Given the description of an element on the screen output the (x, y) to click on. 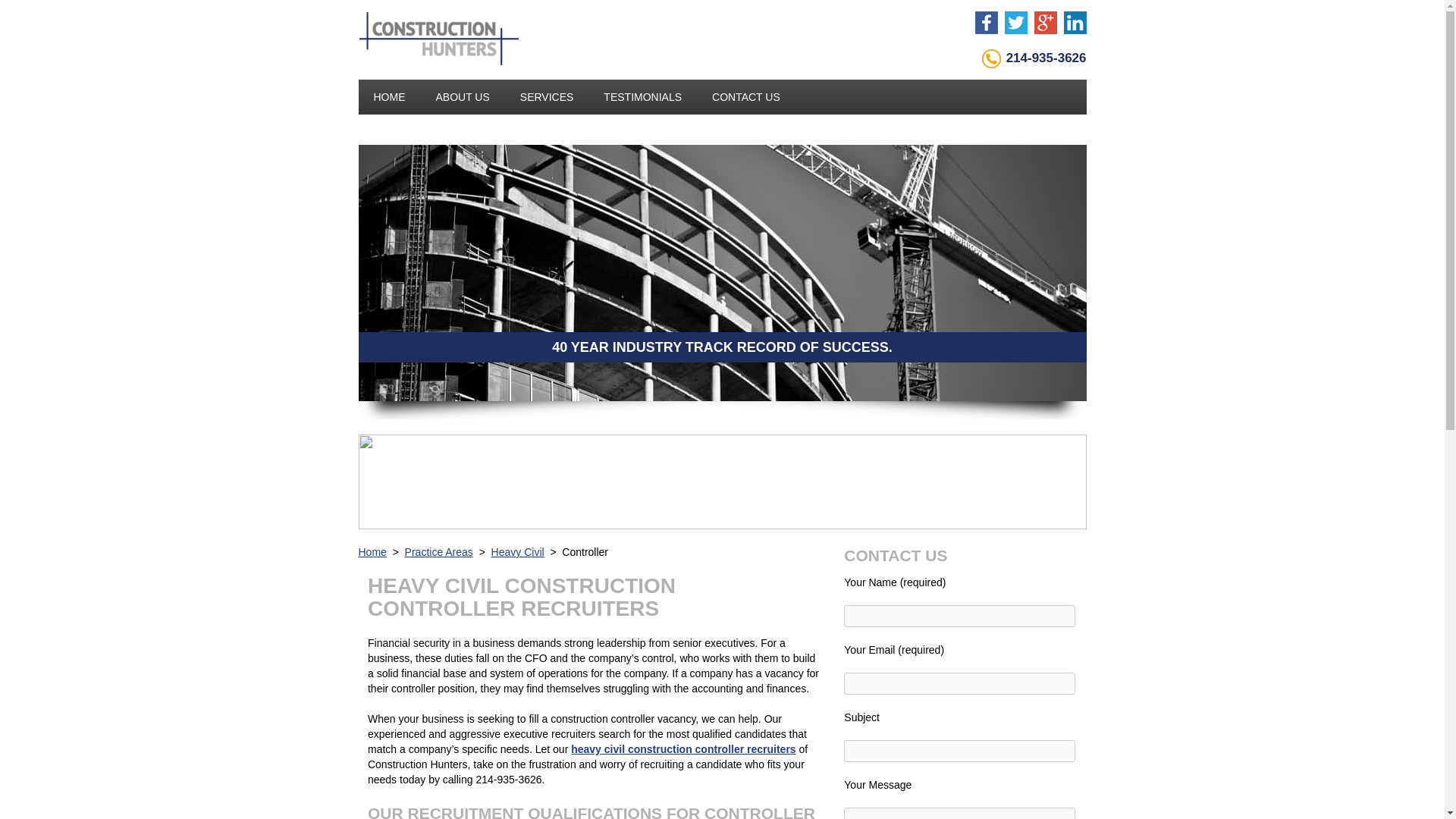
heavy civil construction controller recruiters (682, 748)
Home (371, 551)
HOME (389, 96)
Practice Areas (438, 551)
ABOUT US (461, 96)
Heavy Civil (518, 551)
SERVICES (547, 96)
CONTACT US (745, 96)
TESTIMONIALS (642, 96)
